Given the description of an element on the screen output the (x, y) to click on. 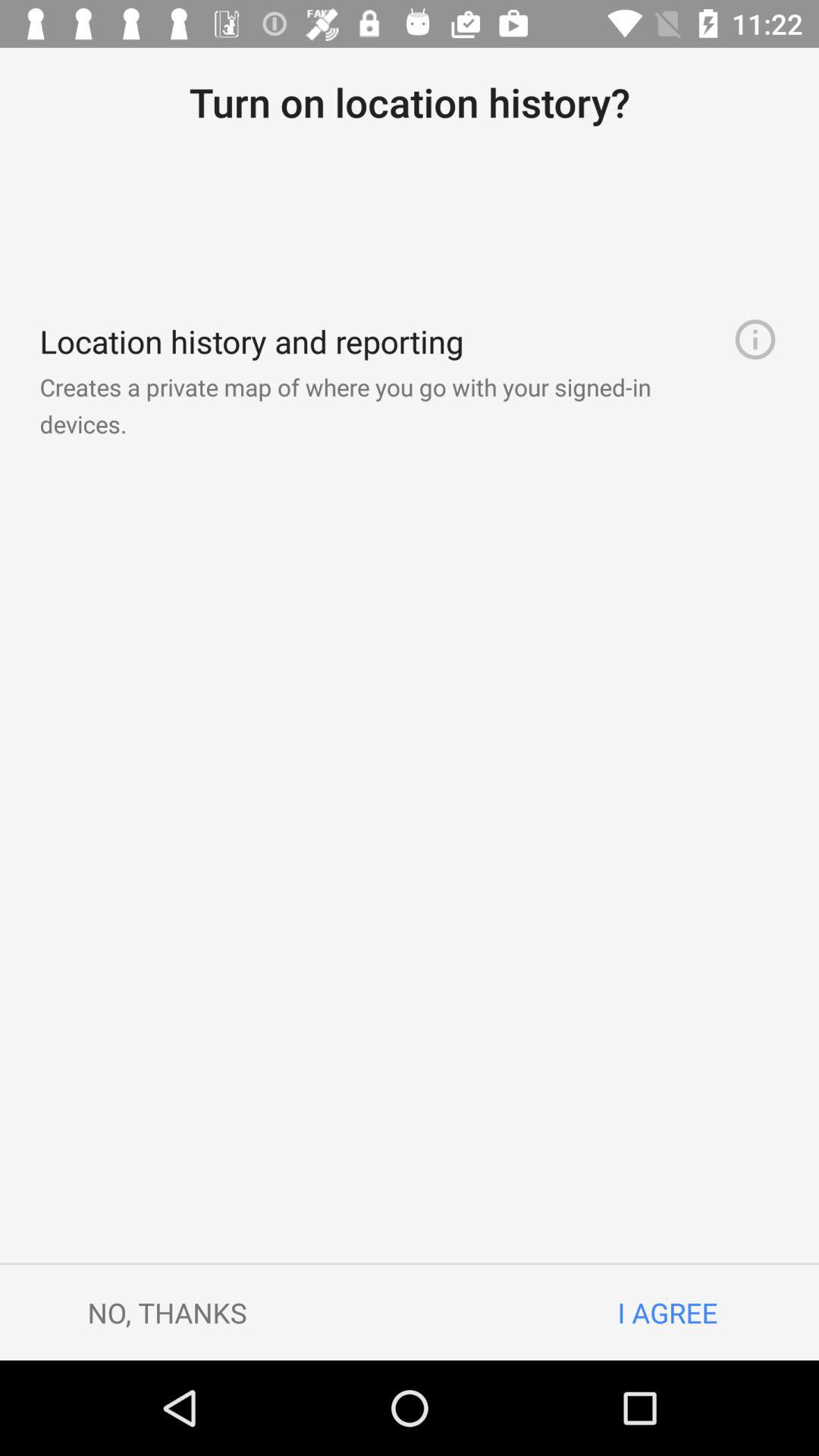
press item next to i agree icon (166, 1312)
